Given the description of an element on the screen output the (x, y) to click on. 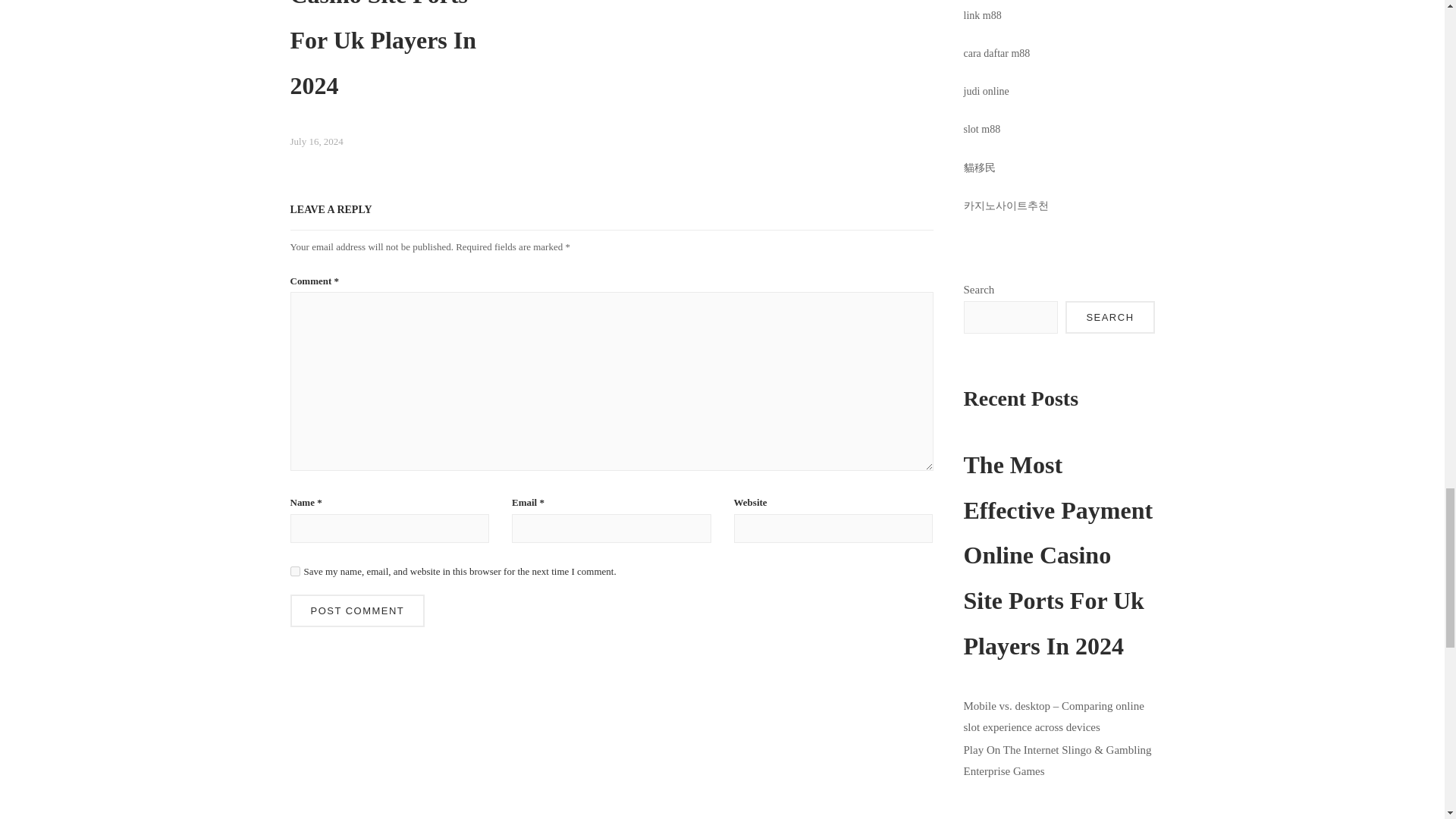
Post Comment (357, 610)
yes (294, 571)
Post Comment (357, 610)
